Given the description of an element on the screen output the (x, y) to click on. 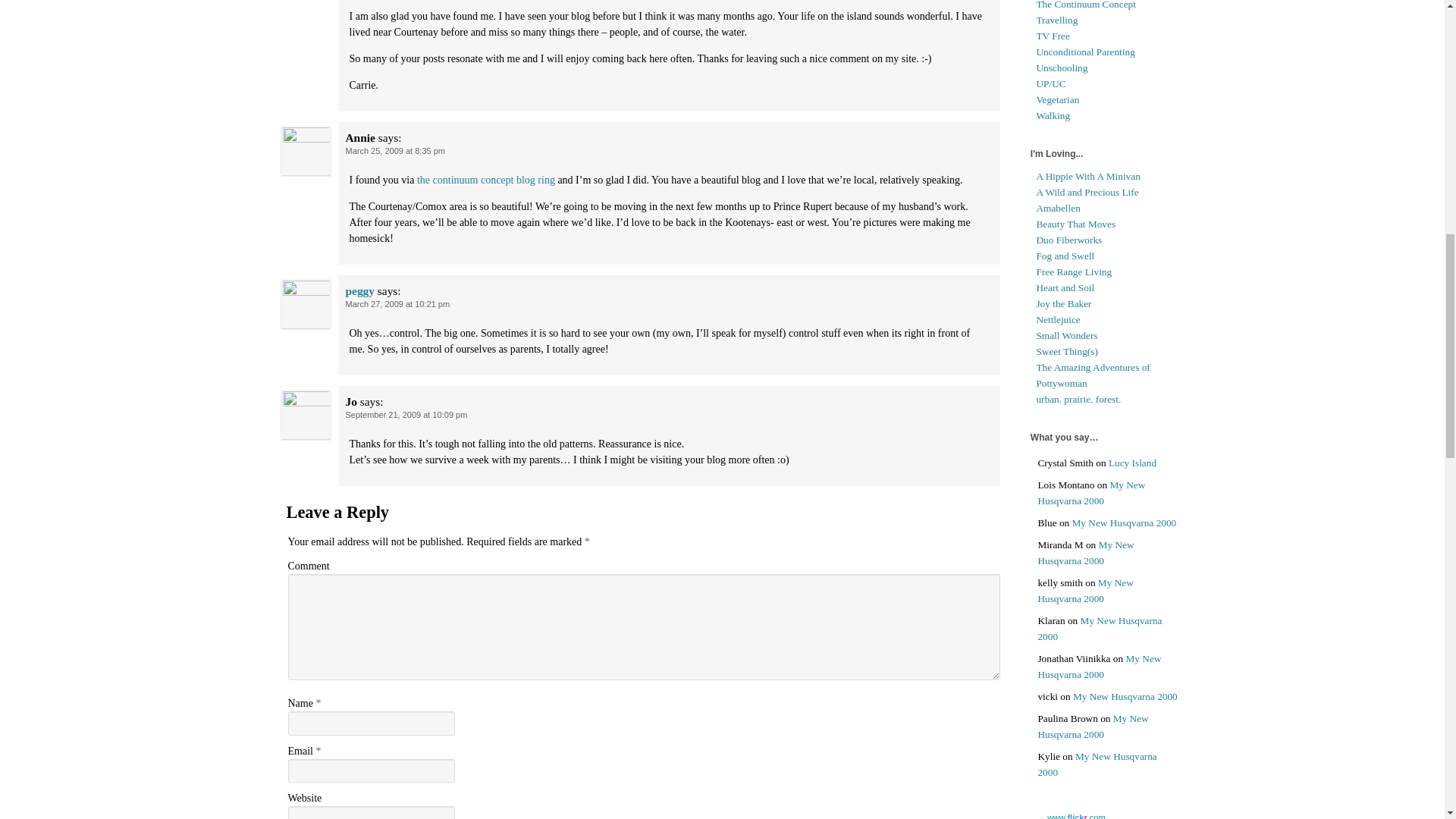
March 25, 2009 at 8:35 pm (395, 150)
September 21, 2009 at 10:09 pm (406, 414)
peggy (360, 290)
March 27, 2009 at 10:21 pm (397, 303)
the continuum concept blog ring (485, 179)
